Given the description of an element on the screen output the (x, y) to click on. 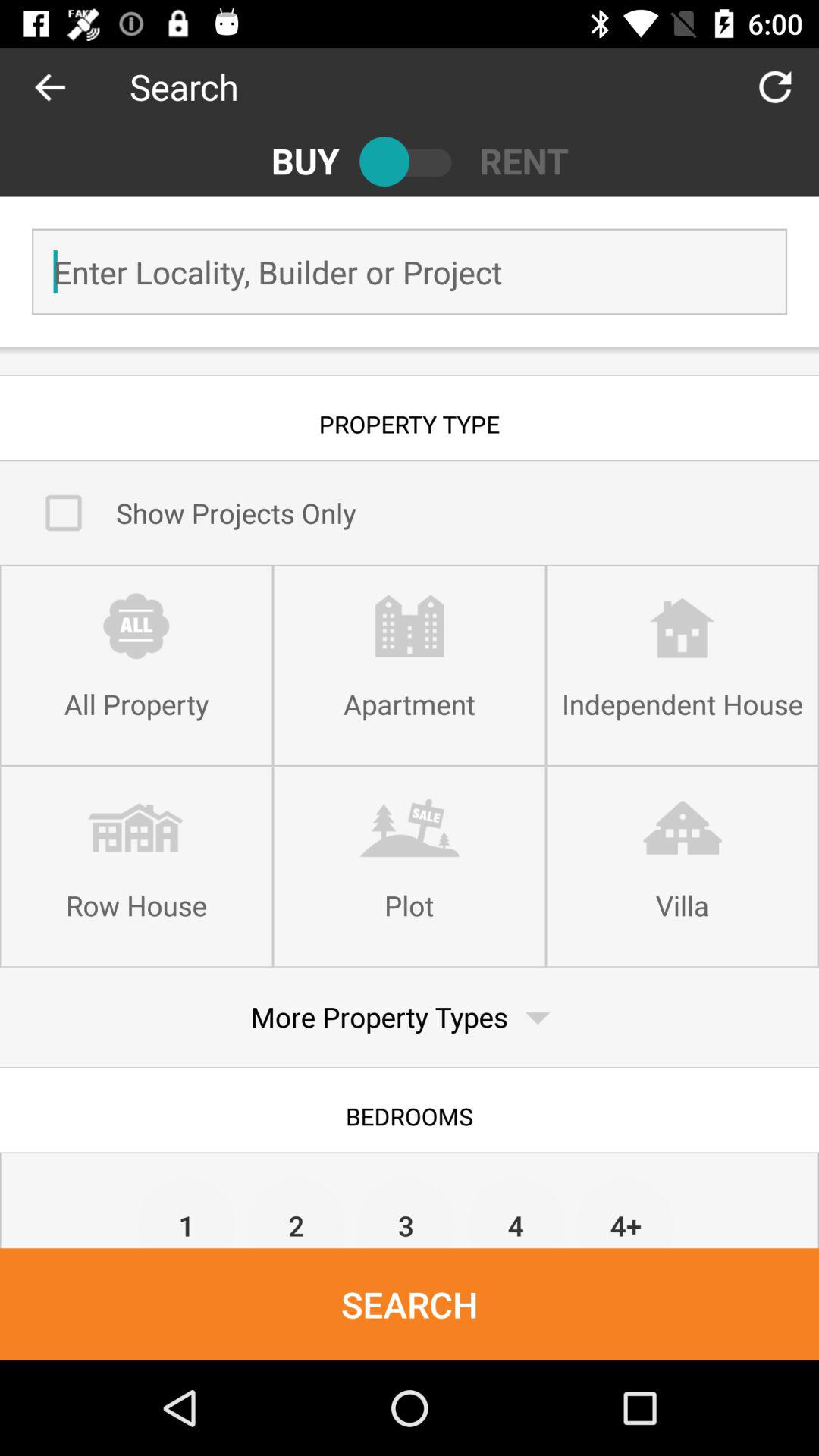
scroll to 2 (296, 1212)
